Given the description of an element on the screen output the (x, y) to click on. 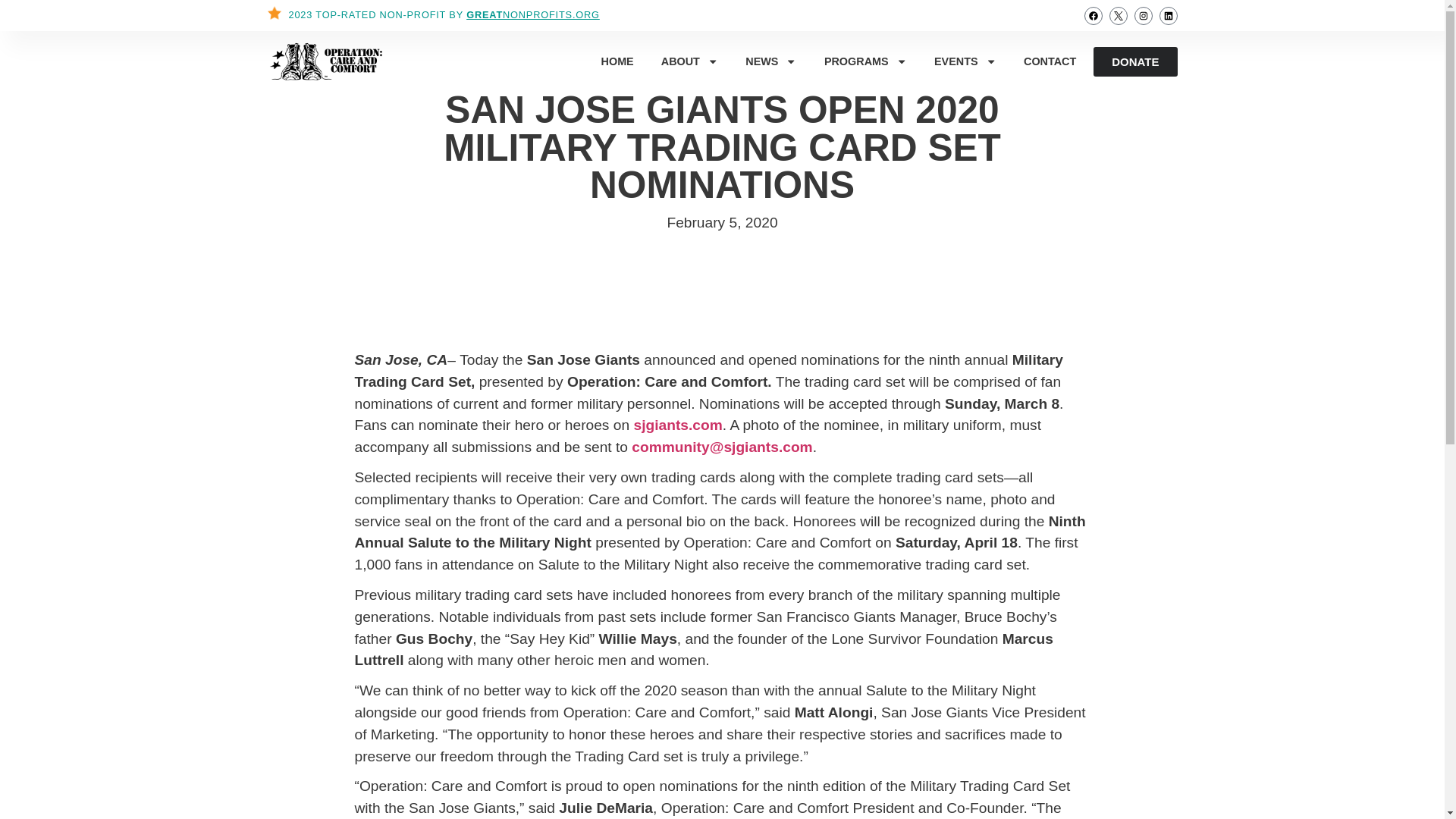
GREATNONPROFITS.ORG (532, 14)
HOME (617, 61)
EVENTS (964, 61)
CONTACT (1050, 61)
NEWS (770, 61)
ABOUT (689, 61)
PROGRAMS (865, 61)
